Given the description of an element on the screen output the (x, y) to click on. 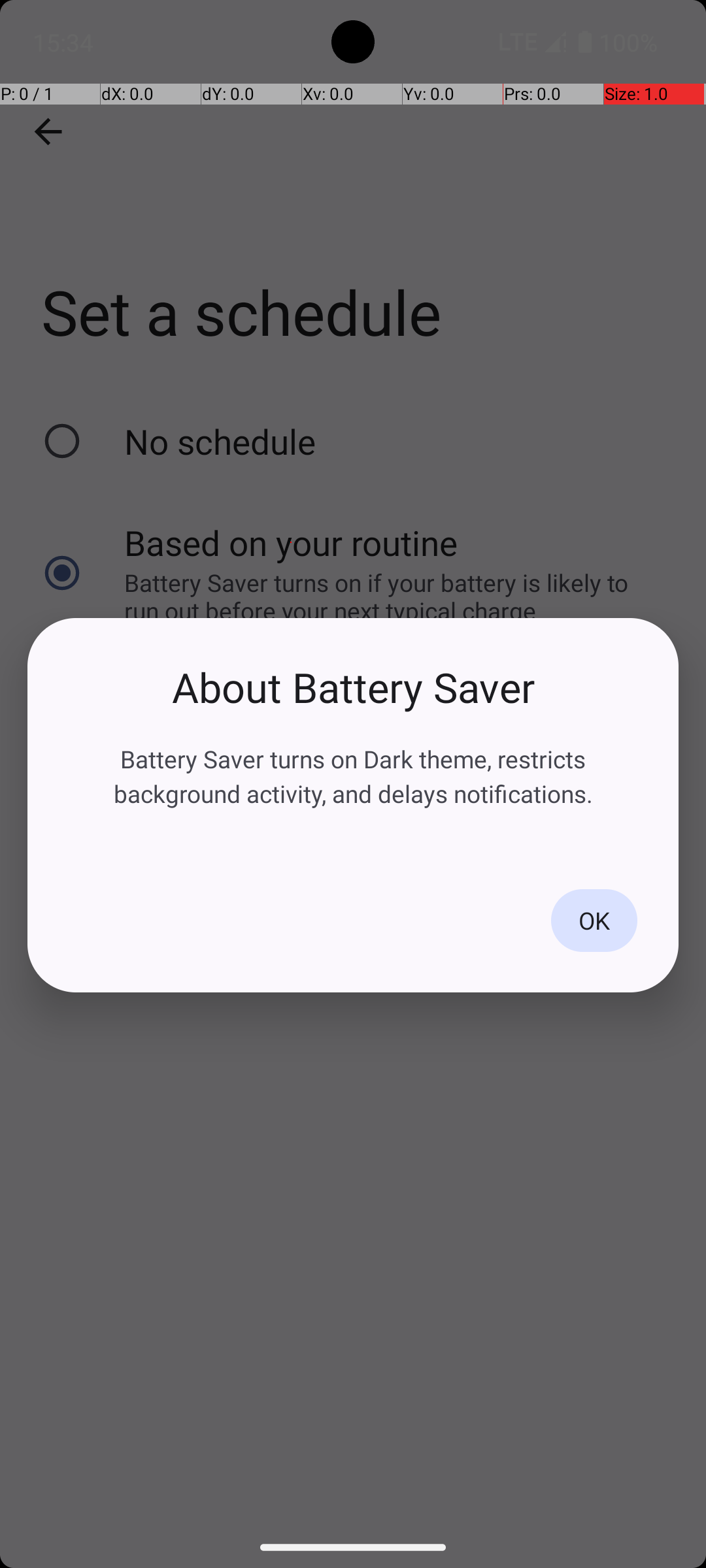
About Battery Saver Element type: android.widget.TextView (352, 686)
Battery Saver turns on Dark theme, restricts background activity, and delays notifications. Element type: android.widget.TextView (352, 776)
